Given the description of an element on the screen output the (x, y) to click on. 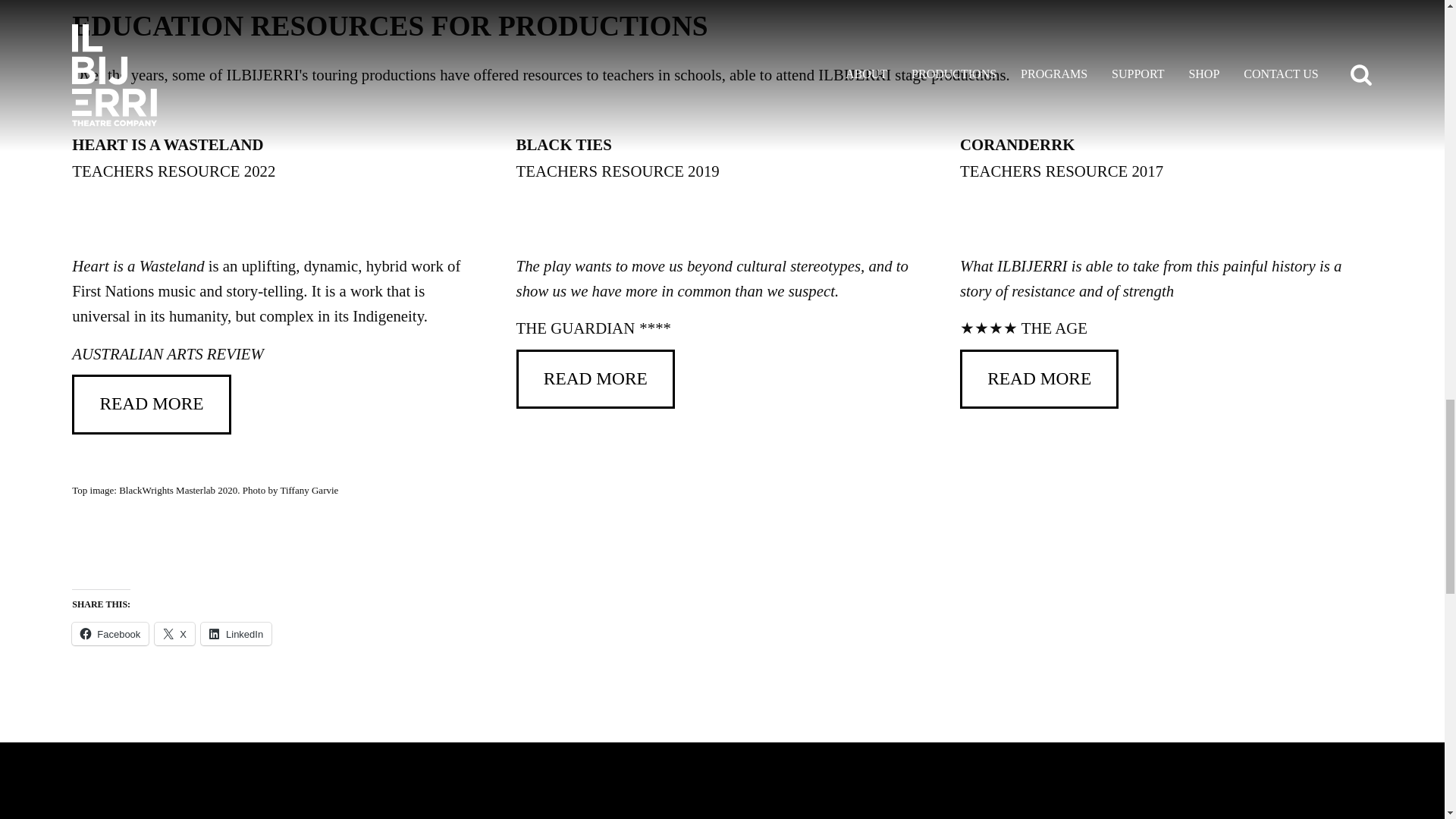
READ MORE (595, 379)
Click to share on LinkedIn (235, 633)
READ MORE (150, 404)
Click to share on X (174, 633)
Click to share on Facebook (109, 633)
